Given the description of an element on the screen output the (x, y) to click on. 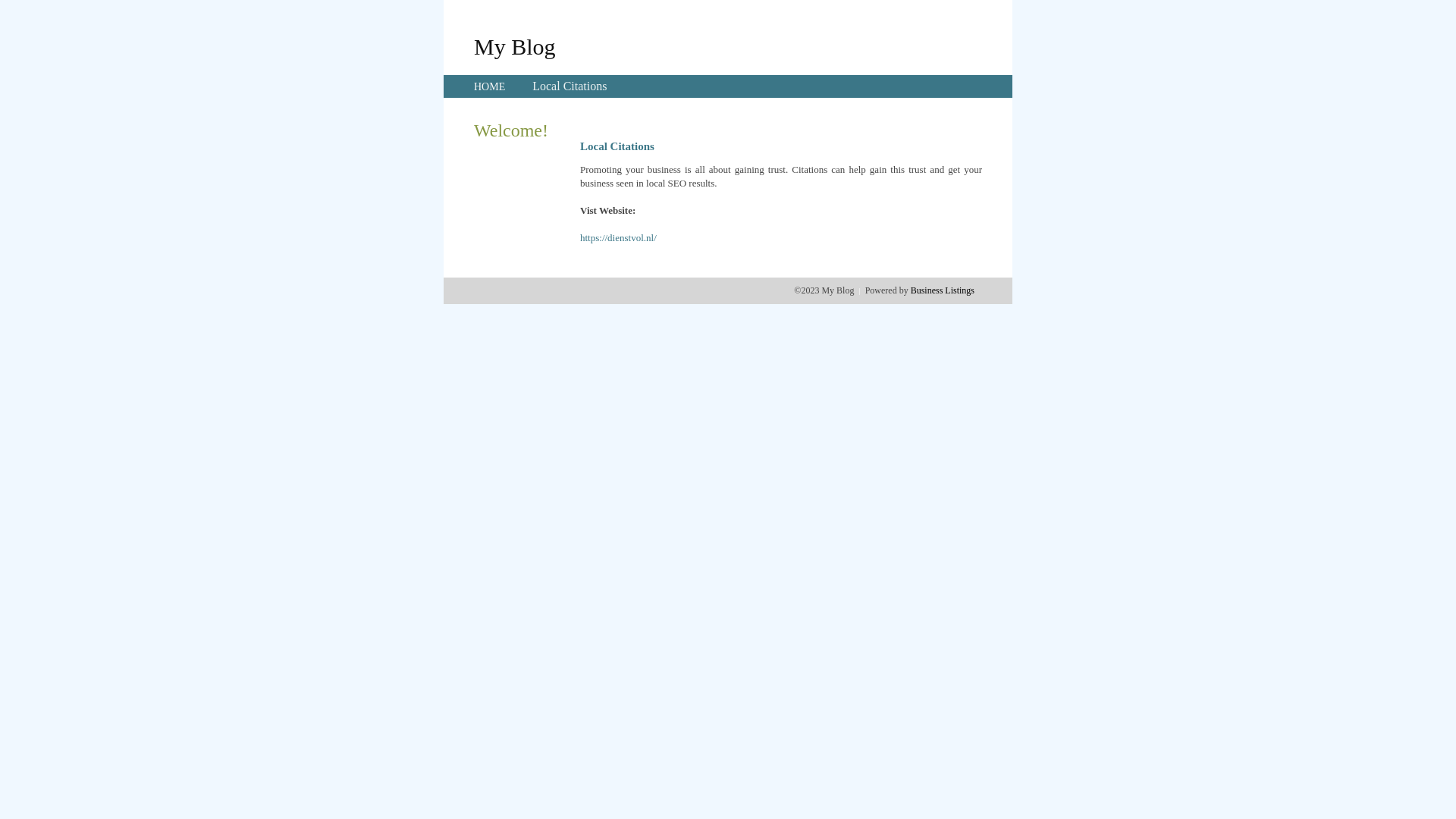
https://dienstvol.nl/ Element type: text (618, 237)
My Blog Element type: text (514, 46)
Business Listings Element type: text (942, 290)
HOME Element type: text (489, 86)
Local Citations Element type: text (569, 85)
